Given the description of an element on the screen output the (x, y) to click on. 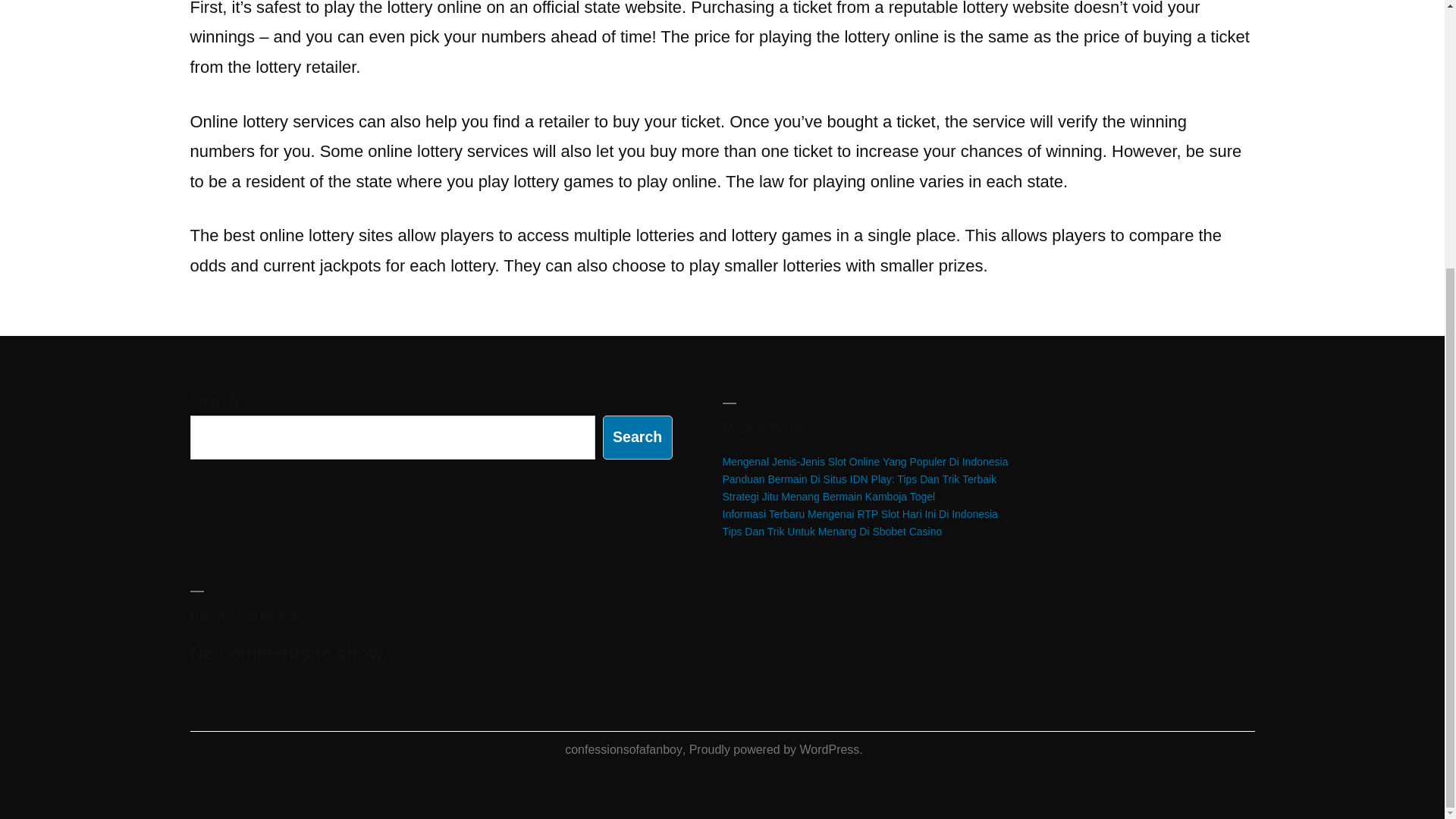
Strategi Jitu Menang Bermain Kamboja Togel (828, 496)
Mengenal Jenis-Jenis Slot Online Yang Populer Di Indonesia (864, 461)
Informasi Terbaru Mengenai RTP Slot Hari Ini Di Indonesia (859, 513)
Tips Dan Trik Untuk Menang Di Sbobet Casino (832, 531)
Proudly powered by WordPress. (775, 748)
Search (637, 436)
confessionsofafanboy (623, 748)
Panduan Bermain Di Situs IDN Play: Tips Dan Trik Terbaik (858, 479)
